Given the description of an element on the screen output the (x, y) to click on. 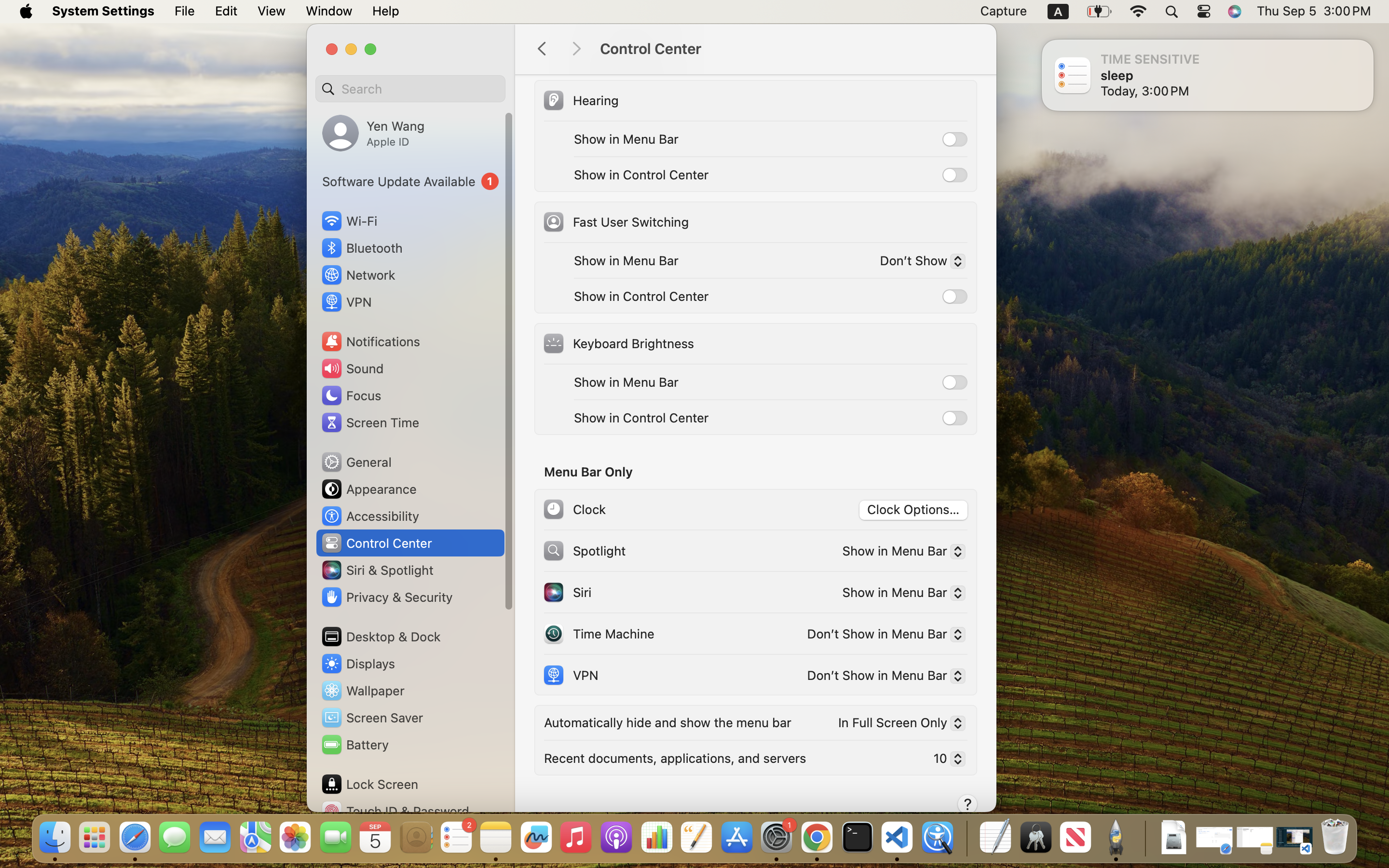
Screen Saver Element type: AXStaticText (371, 717)
Notifications Element type: AXStaticText (370, 340)
Clock Element type: AXStaticText (573, 508)
Lock Screen Element type: AXStaticText (369, 783)
